Given the description of an element on the screen output the (x, y) to click on. 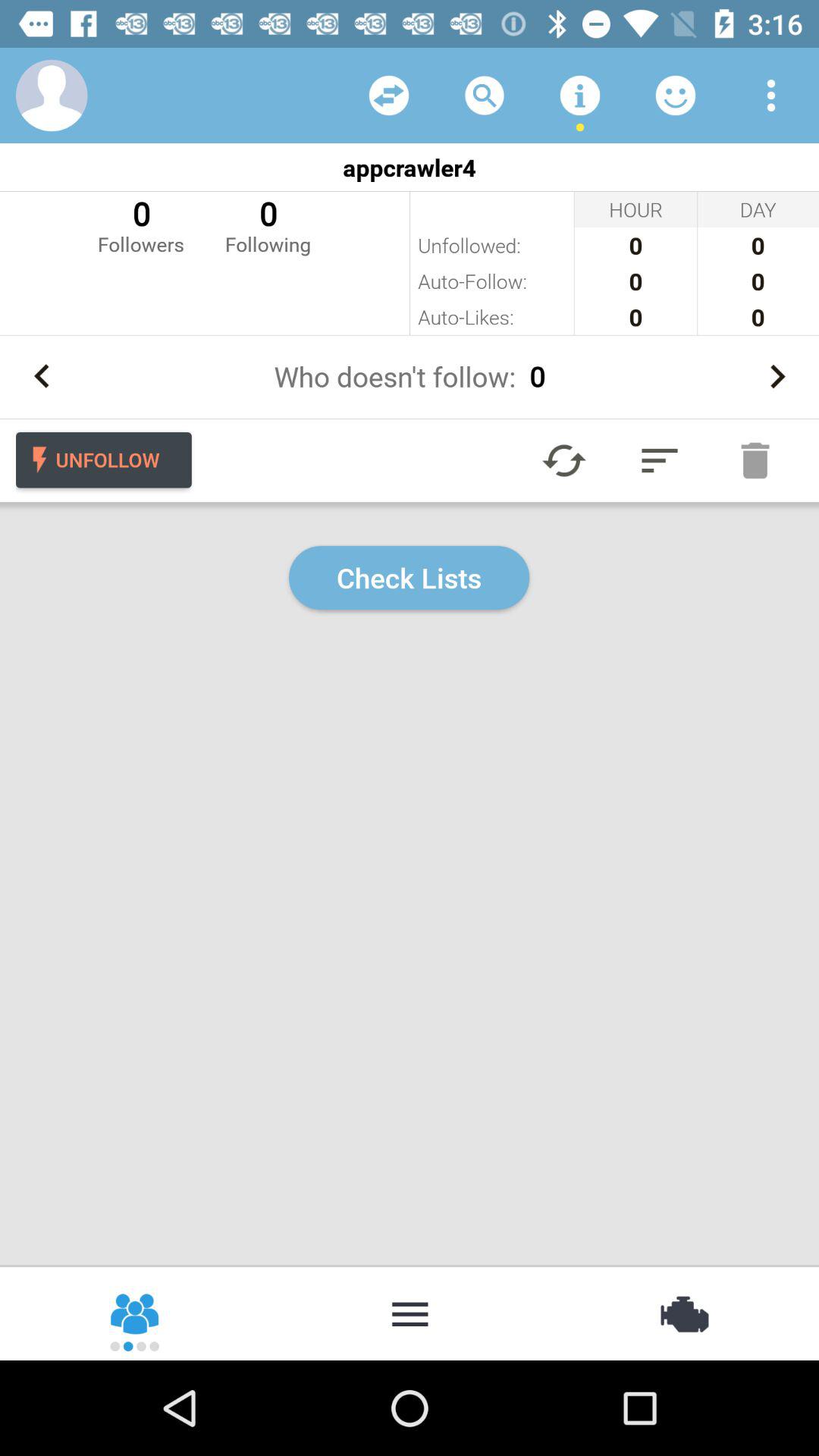
more options (771, 95)
